Given the description of an element on the screen output the (x, y) to click on. 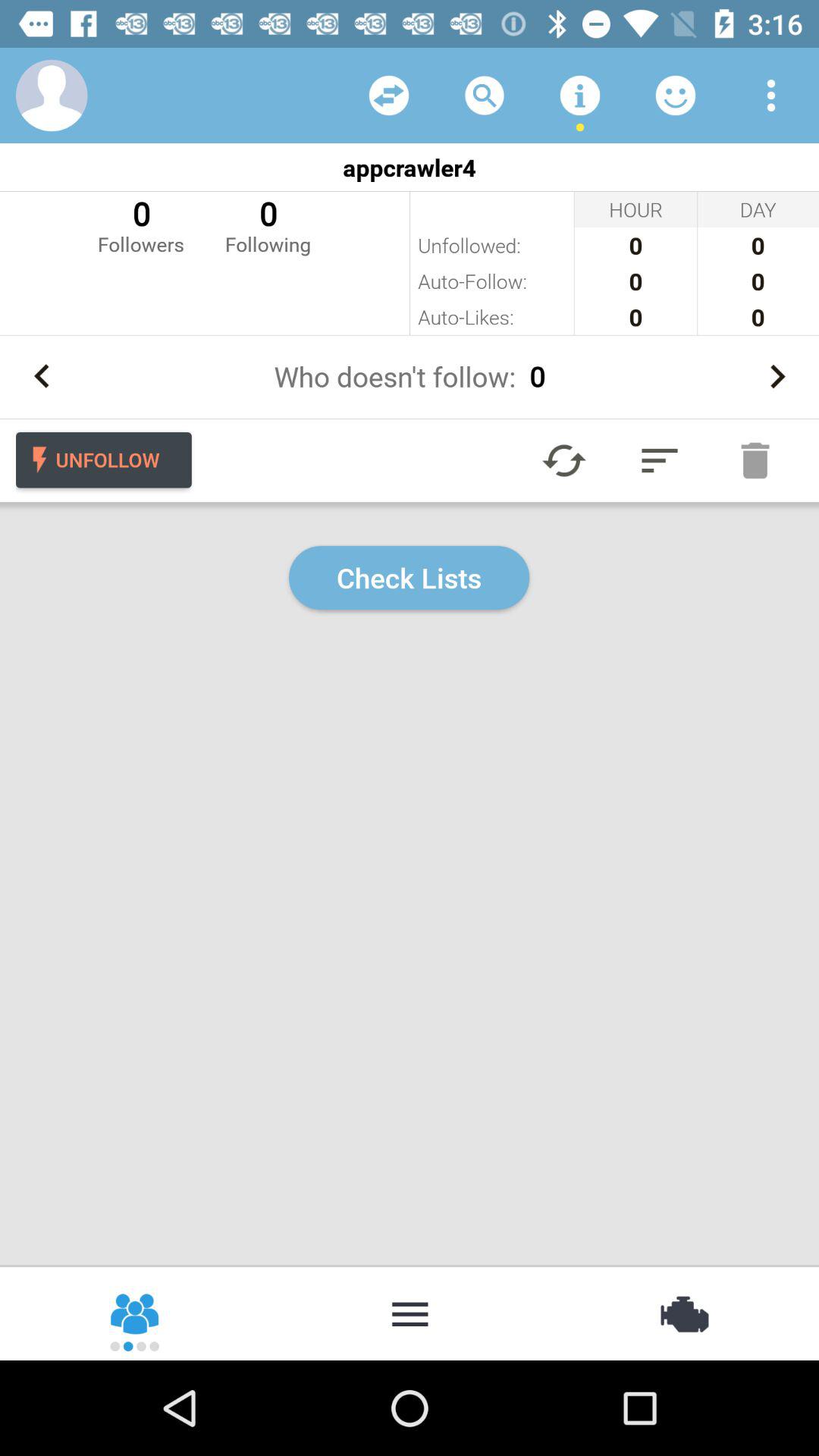
more options (771, 95)
